Given the description of an element on the screen output the (x, y) to click on. 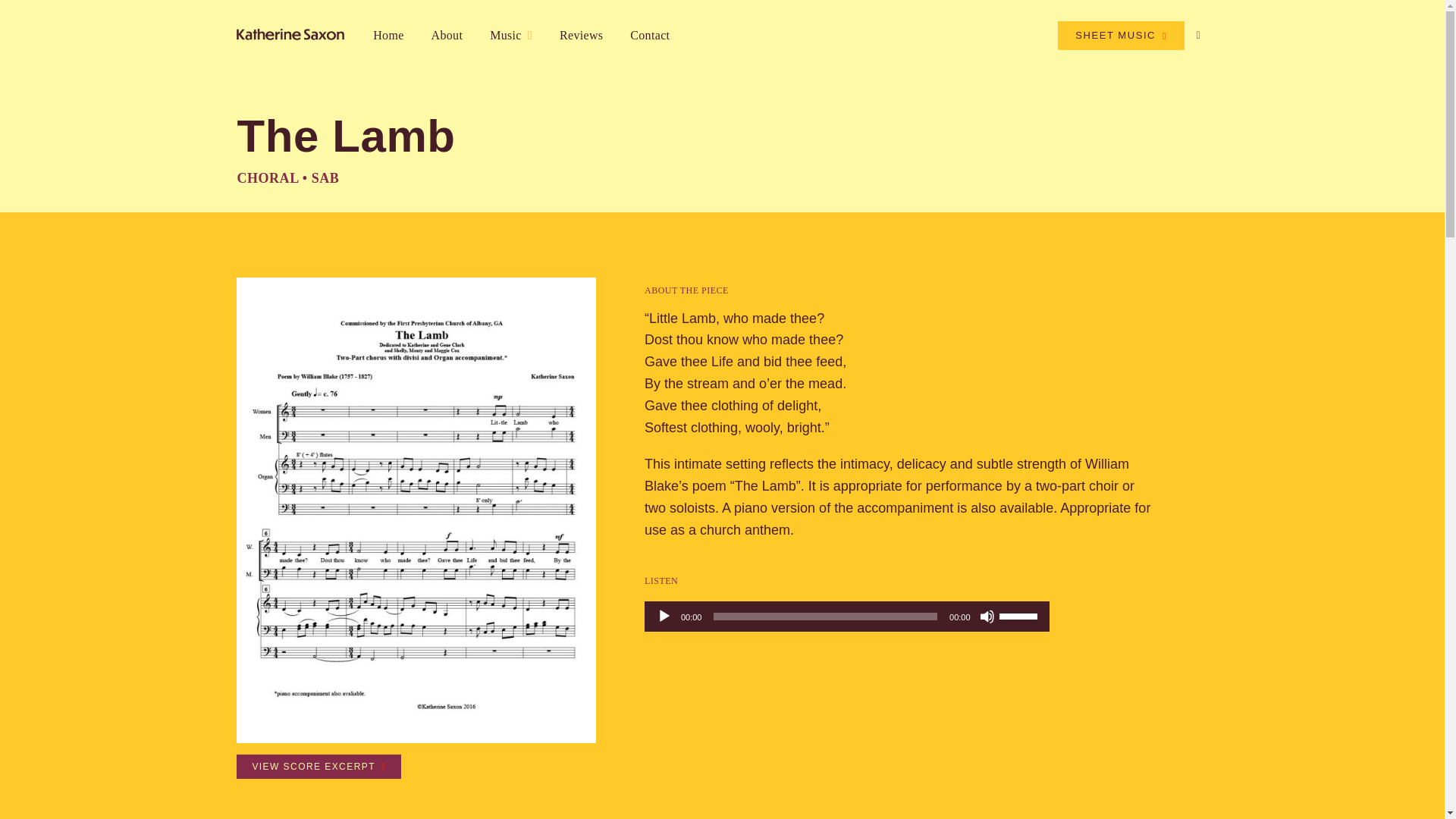
VIEW SCORE EXCERPT (318, 766)
About (447, 35)
Play (663, 616)
Mute (986, 616)
Reviews (580, 35)
SHEET MUSIC (1121, 35)
Music (511, 35)
Home (387, 35)
Contact (648, 35)
